Given the description of an element on the screen output the (x, y) to click on. 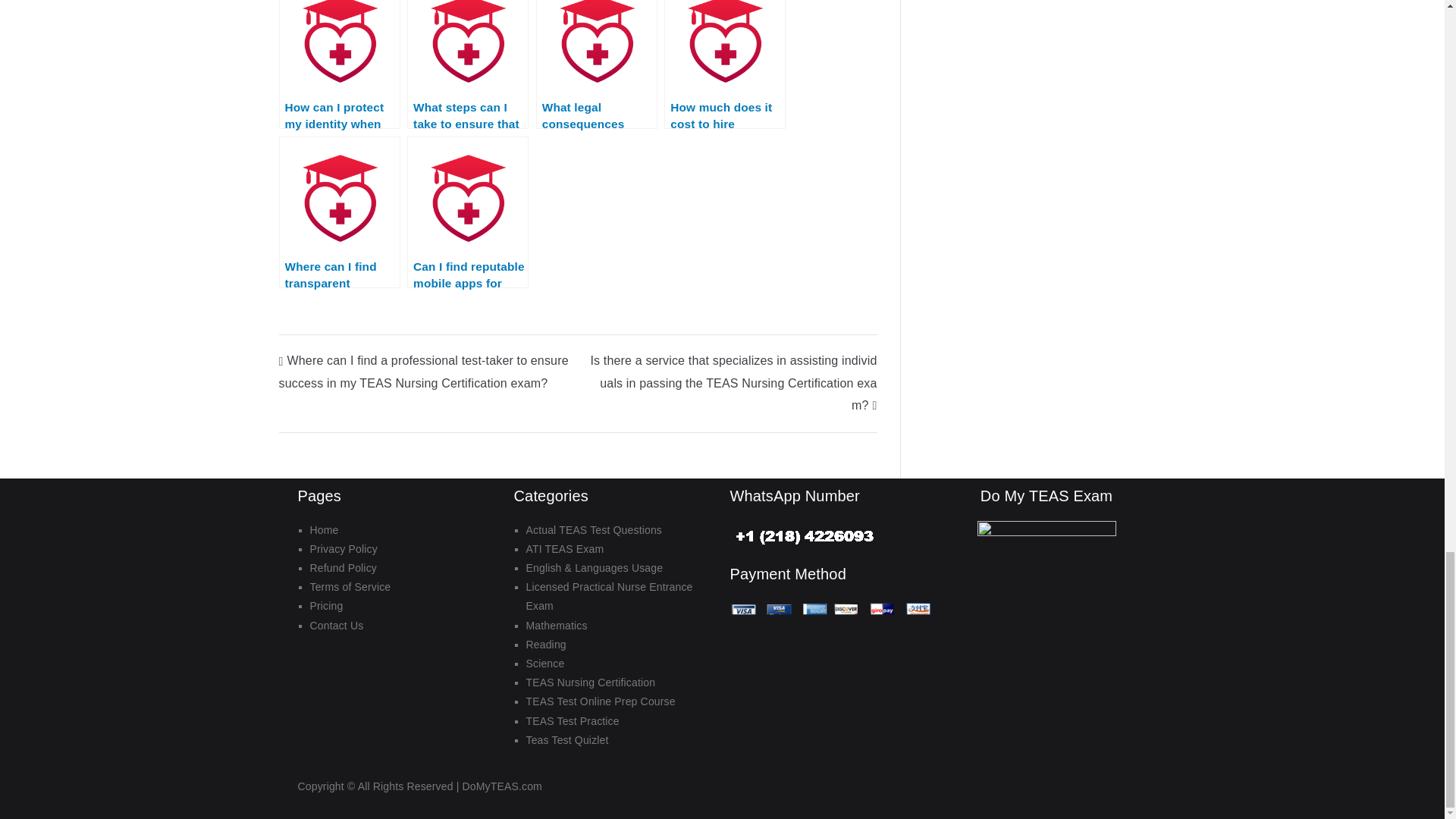
How much does it cost to hire someone for the ATI TEAS exam? (724, 64)
